Given the description of an element on the screen output the (x, y) to click on. 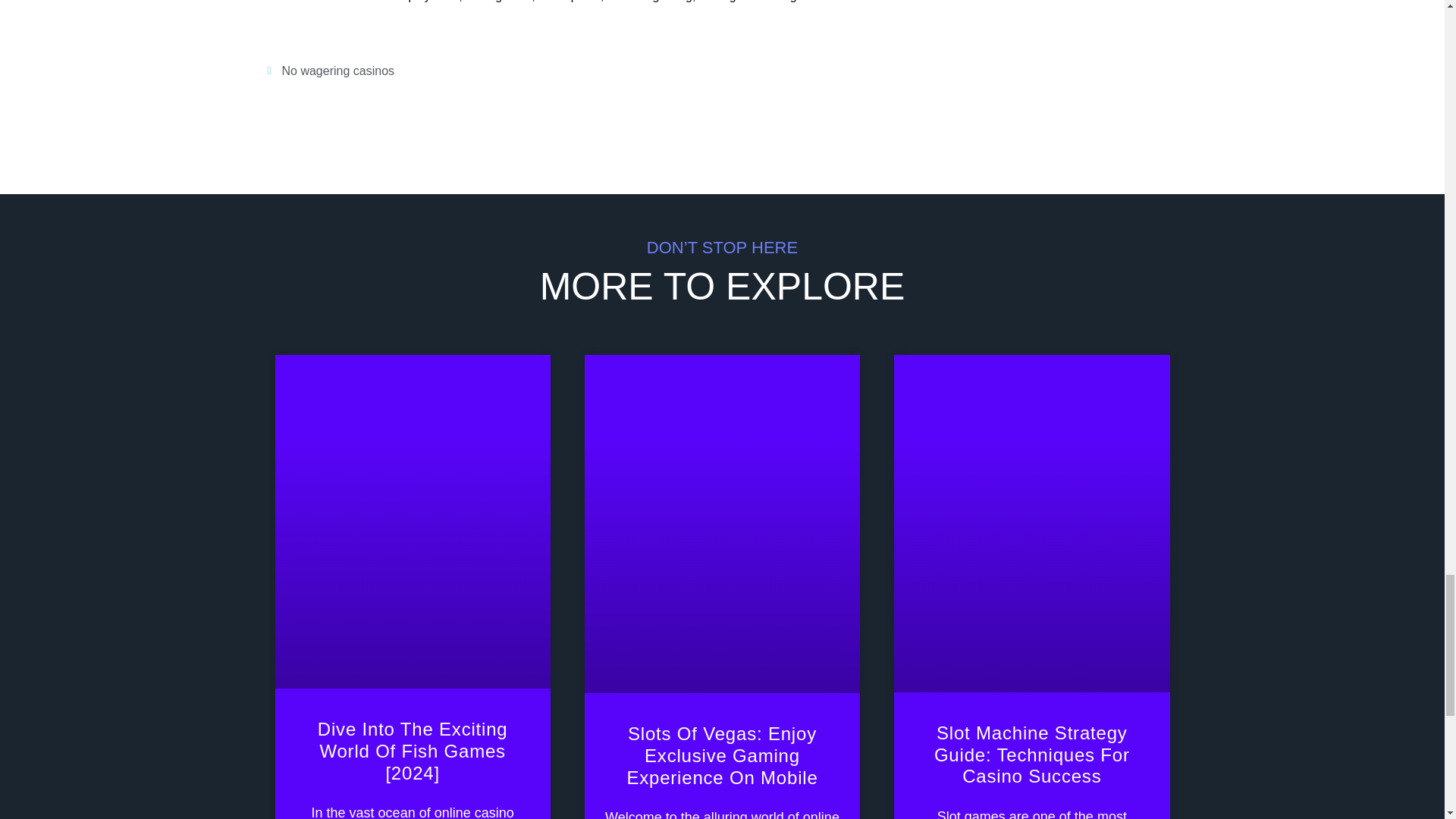
slots (445, 1)
No wagering casinos (338, 70)
